Given the description of an element on the screen output the (x, y) to click on. 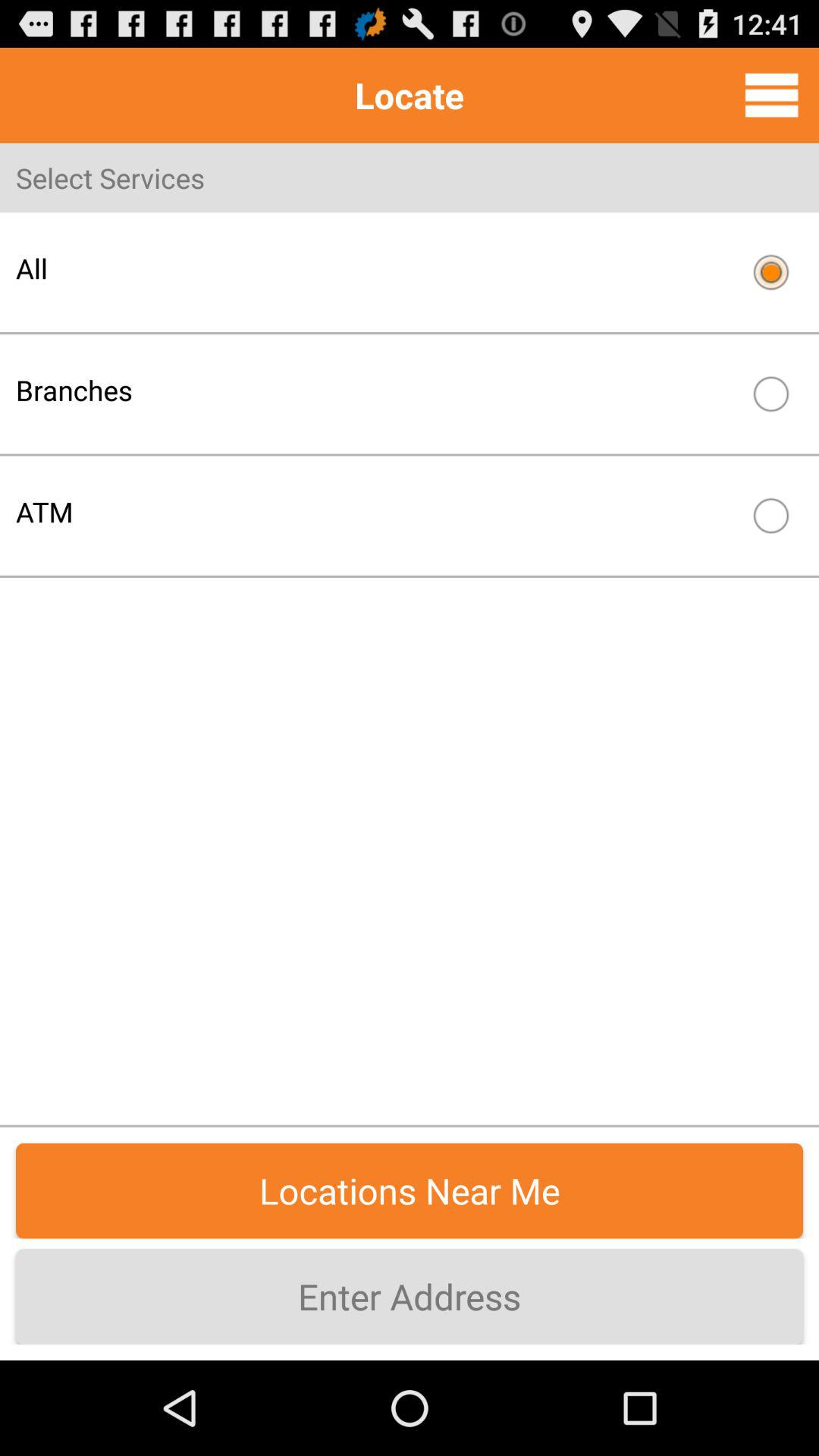
open menu (771, 95)
